Given the description of an element on the screen output the (x, y) to click on. 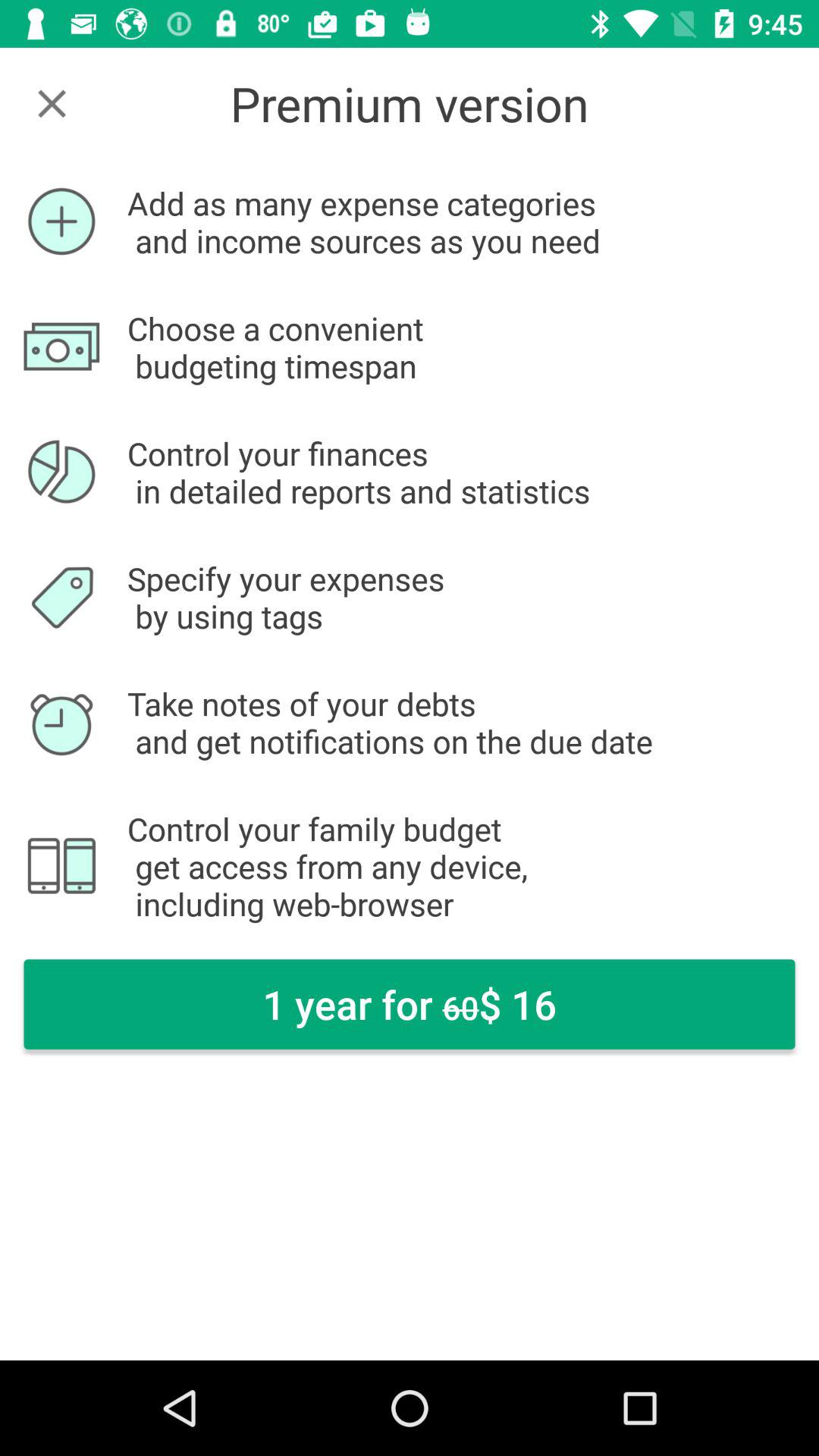
pointing to close screen (51, 103)
